Given the description of an element on the screen output the (x, y) to click on. 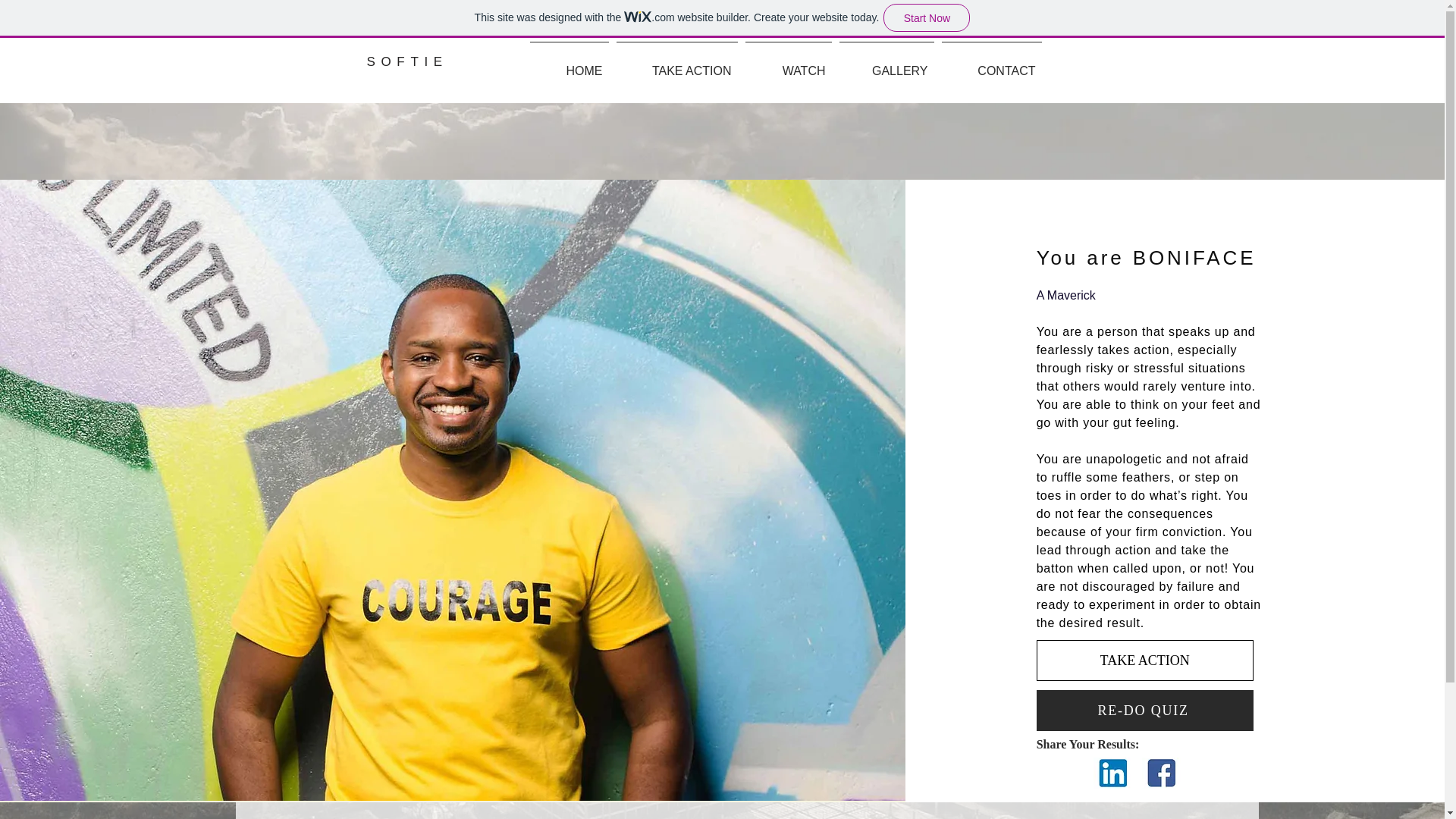
WATCH (788, 63)
HOME (568, 63)
TAKE ACTION (1144, 659)
RE-DO QUIZ (1144, 710)
SOFTIE (407, 61)
CONTACT (991, 63)
Twitter Tweet (1058, 772)
TAKE ACTION (676, 63)
GALLERY (886, 63)
